Given the description of an element on the screen output the (x, y) to click on. 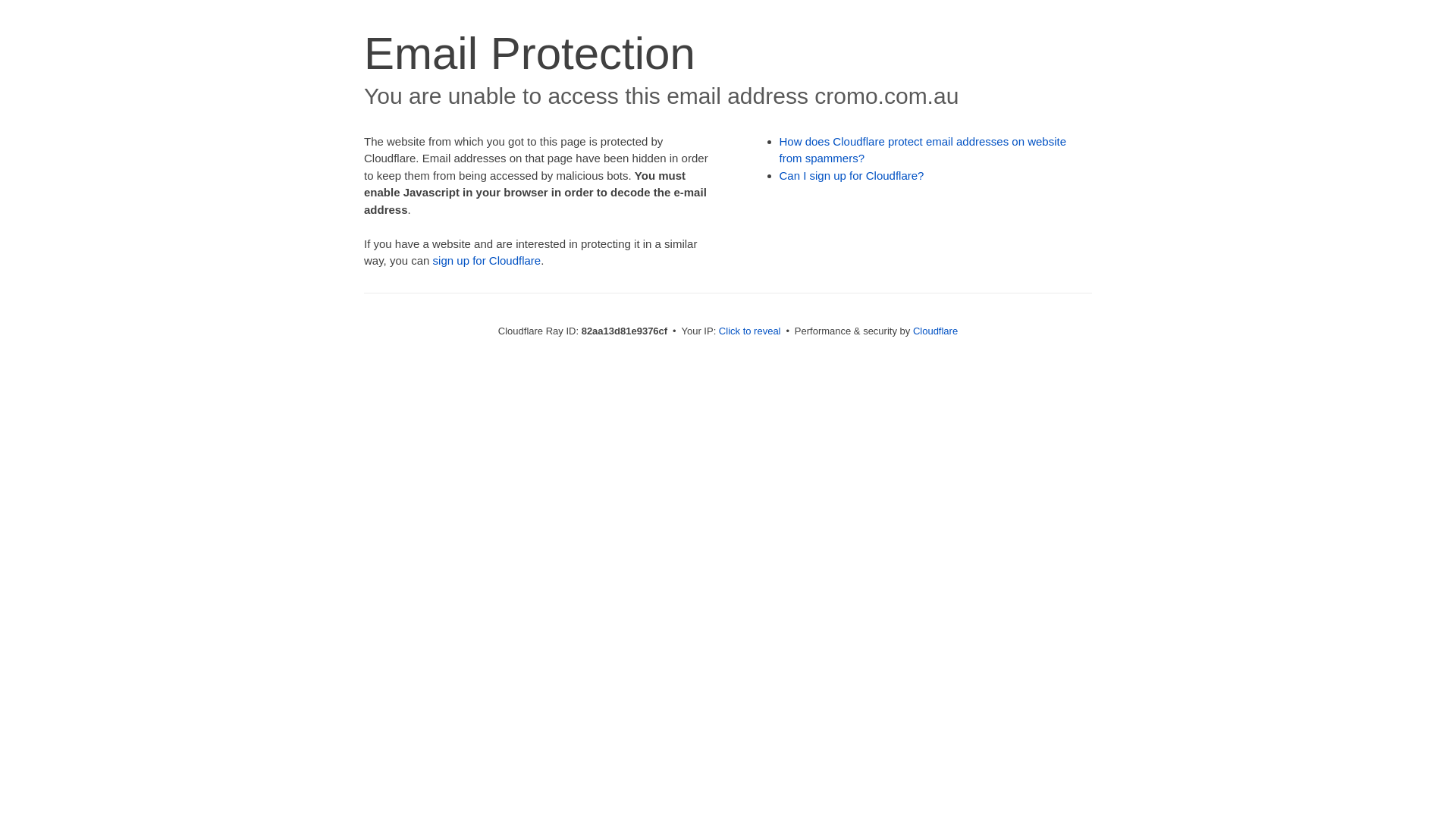
Click to reveal Element type: text (749, 330)
Cloudflare Element type: text (935, 330)
Can I sign up for Cloudflare? Element type: text (851, 175)
sign up for Cloudflare Element type: text (487, 260)
